Given the description of an element on the screen output the (x, y) to click on. 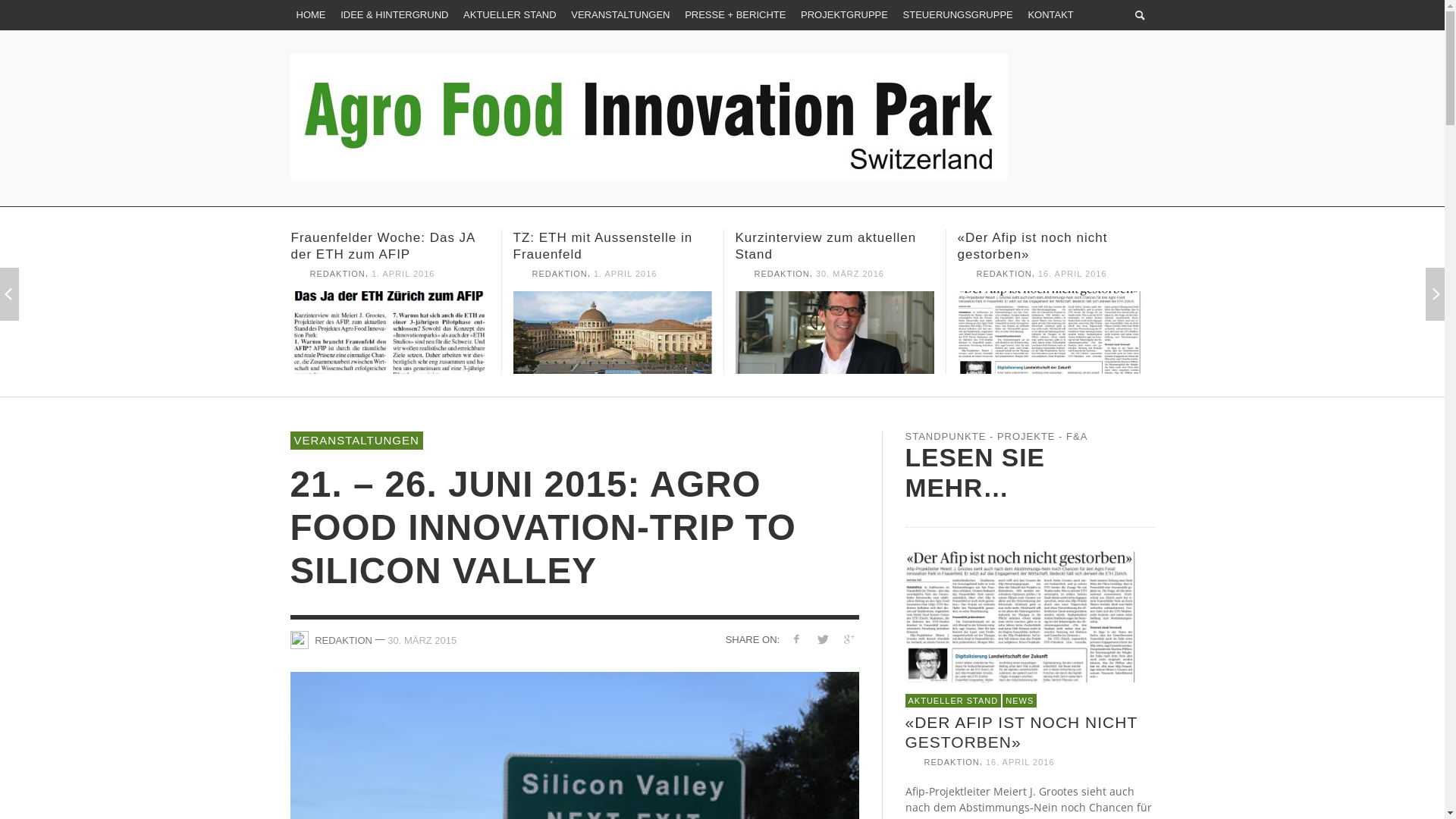
Share on Twitter Element type: hover (822, 638)
4. APRIL 2016 Element type: text (403, 273)
STEUERUNGSGRUPPE Element type: text (958, 15)
1. APRIL 2016 Element type: text (1069, 273)
Permalink to TZ: ETH mit Aussenstelle in Frauenfeld Element type: hover (834, 332)
NEWS Element type: text (1019, 700)
1. APRIL 2016 Element type: text (625, 256)
REDAKTION Element type: text (1004, 273)
16. APRIL 2016 Element type: text (1019, 761)
VERANSTALTUNGEN Element type: text (619, 15)
Permalink to Kurzinterview zum aktuellen Stand Element type: hover (1056, 332)
Frauenfelder Woche: Das JA der ETH zum AFIP Element type: text (827, 245)
REDAKTION Element type: text (951, 761)
IDEE & HINTERGRUND Element type: text (394, 15)
Permalink to Frauenfelder Woche: Das JA der ETH zum AFIP Element type: hover (611, 332)
REDAKTION Element type: text (337, 273)
AKTUELLER STAND Element type: text (953, 700)
Radio TOP Interview Element type: text (578, 237)
VERANSTALTUNGEN Element type: text (355, 440)
PROJEKTGRUPPE Element type: text (844, 15)
Permalink to Radio TOP Interview Element type: hover (390, 323)
1. APRIL 2016 Element type: text (847, 273)
Share on Google+ Element type: hover (848, 638)
Share on Facebook Element type: hover (795, 638)
KONTAKT Element type: text (1050, 15)
REDAKTION Element type: text (781, 273)
HOME Element type: text (310, 15)
REDAKTION Element type: text (343, 639)
TZ: ETH mit Aussenstelle in Frauenfeld Element type: text (1046, 245)
REDAKTION Element type: text (559, 256)
PRESSE + BERICHTE Element type: text (734, 15)
AKTUELLER STAND Element type: text (509, 15)
